Given the description of an element on the screen output the (x, y) to click on. 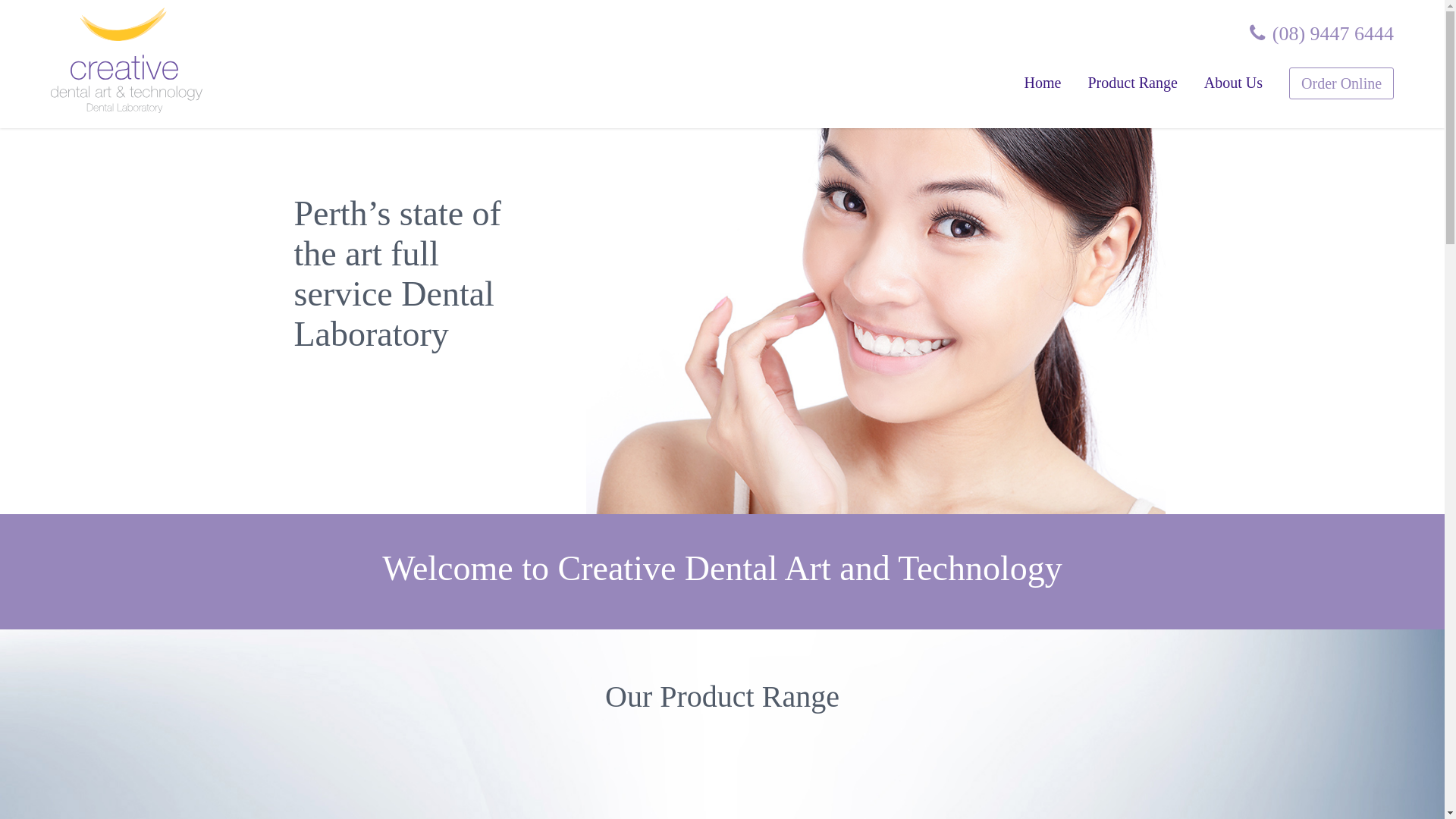
Product Range Element type: text (1131, 82)
(08) 9447 6444 Element type: text (1321, 33)
About Us Element type: text (1233, 82)
Home Element type: text (1042, 82)
Order Online Element type: text (1341, 83)
